Given the description of an element on the screen output the (x, y) to click on. 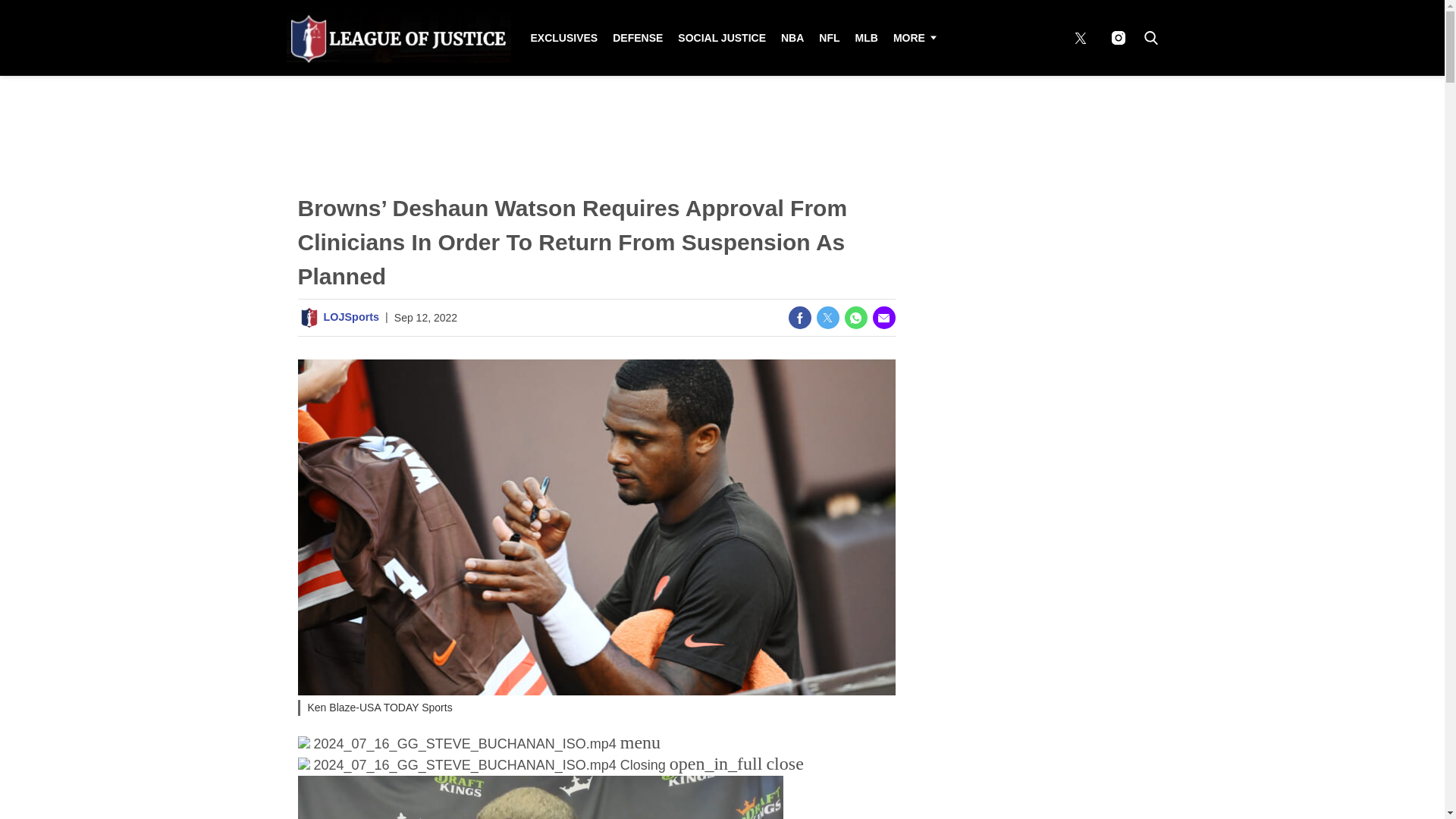
Share on Facebook (799, 317)
3rd party ad content (1032, 295)
Share on WhatsApp (855, 317)
NBA (791, 38)
NFL (828, 38)
MLB (866, 38)
DEFENSE (637, 38)
Follow us on Instagram (1118, 38)
MORE (912, 38)
Posts by LOJSports (350, 317)
3rd party ad content (1032, 512)
Share via Email (883, 317)
EXCLUSIVES (563, 38)
LOJSports (350, 317)
SOCIAL JUSTICE (721, 38)
